Given the description of an element on the screen output the (x, y) to click on. 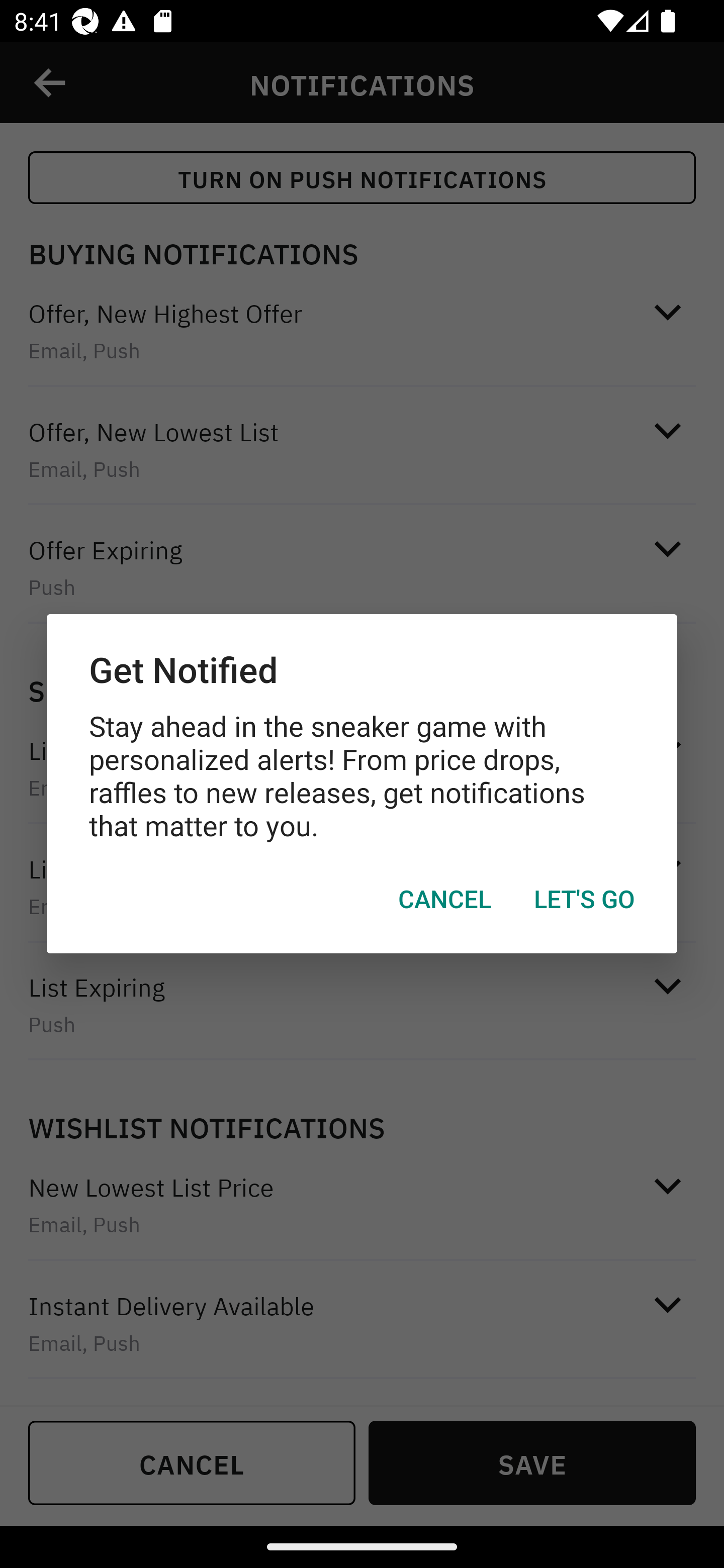
CANCEL (444, 899)
LET'S GO (583, 899)
